Given the description of an element on the screen output the (x, y) to click on. 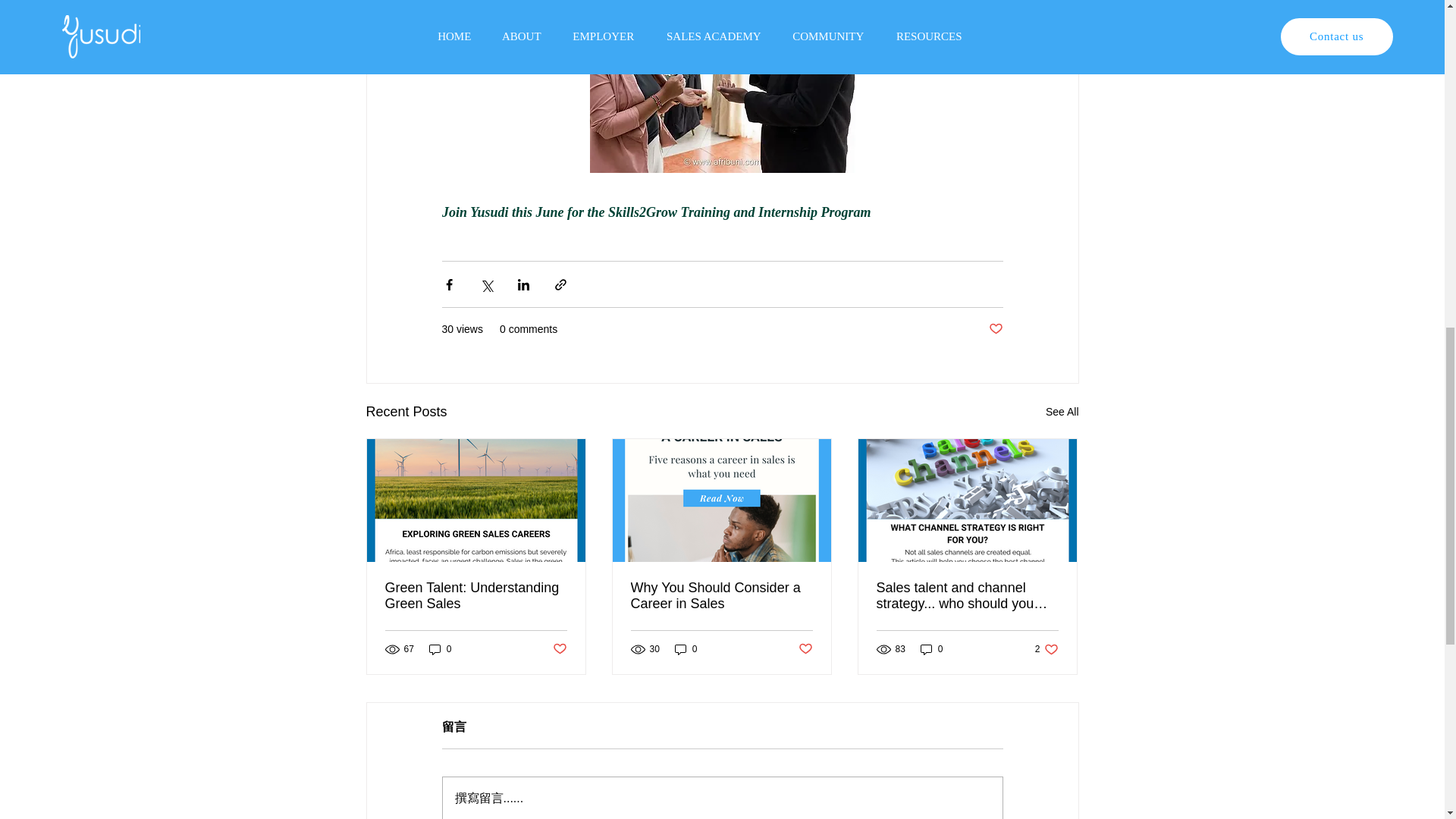
0 (685, 648)
Green Talent: Understanding Green Sales (476, 595)
Post not marked as liked (995, 329)
Why You Should Consider a Career in Sales (1046, 648)
See All (721, 595)
Post not marked as liked (1061, 412)
0 (558, 649)
Post not marked as liked (440, 648)
0 (804, 649)
